Given the description of an element on the screen output the (x, y) to click on. 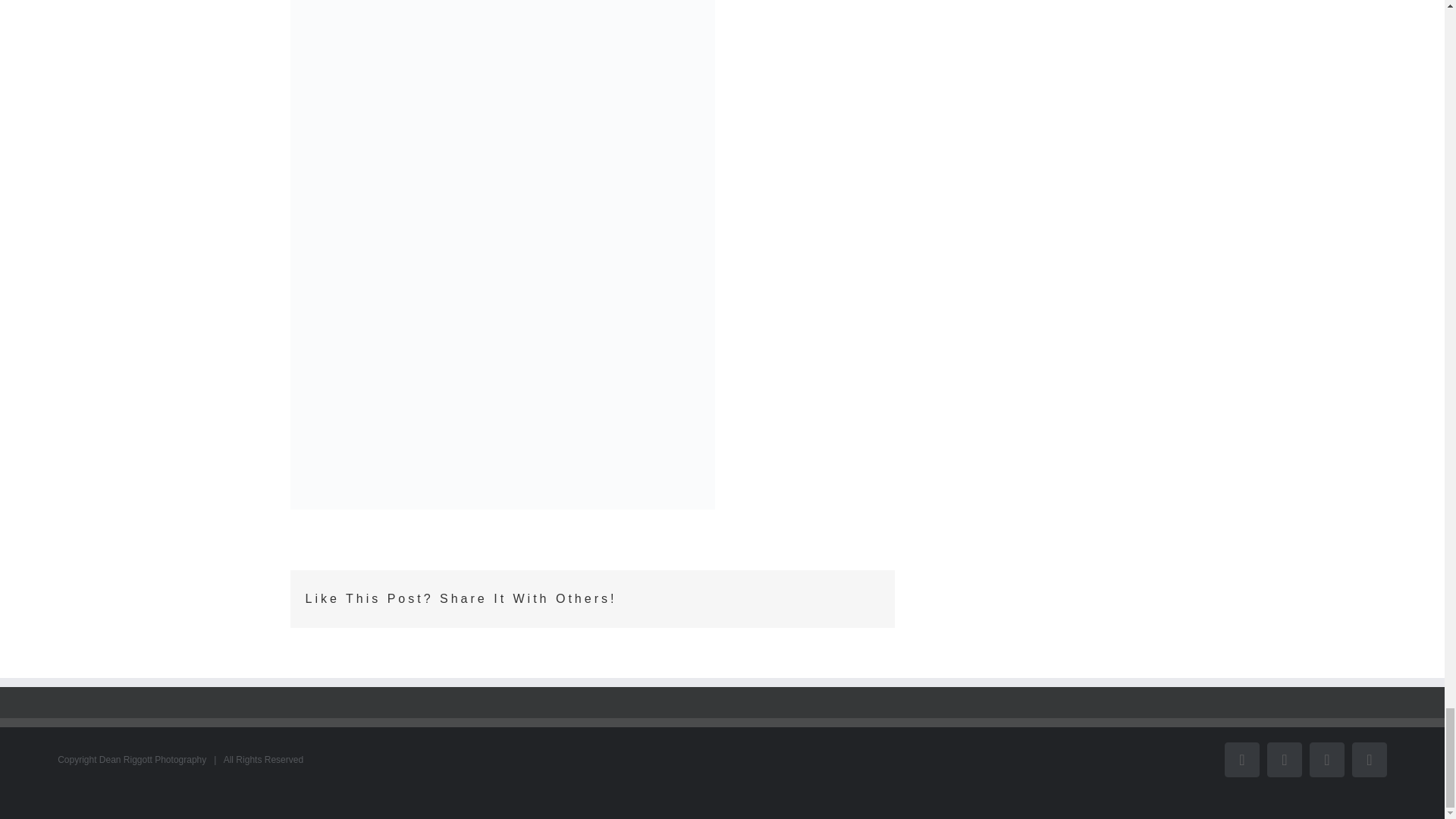
LinkedIn (1283, 759)
Facebook (1241, 759)
Instagram (1325, 759)
Facebook (1241, 759)
Instagram (1325, 759)
LinkedIn (1283, 759)
Email (1369, 759)
